Given the description of an element on the screen output the (x, y) to click on. 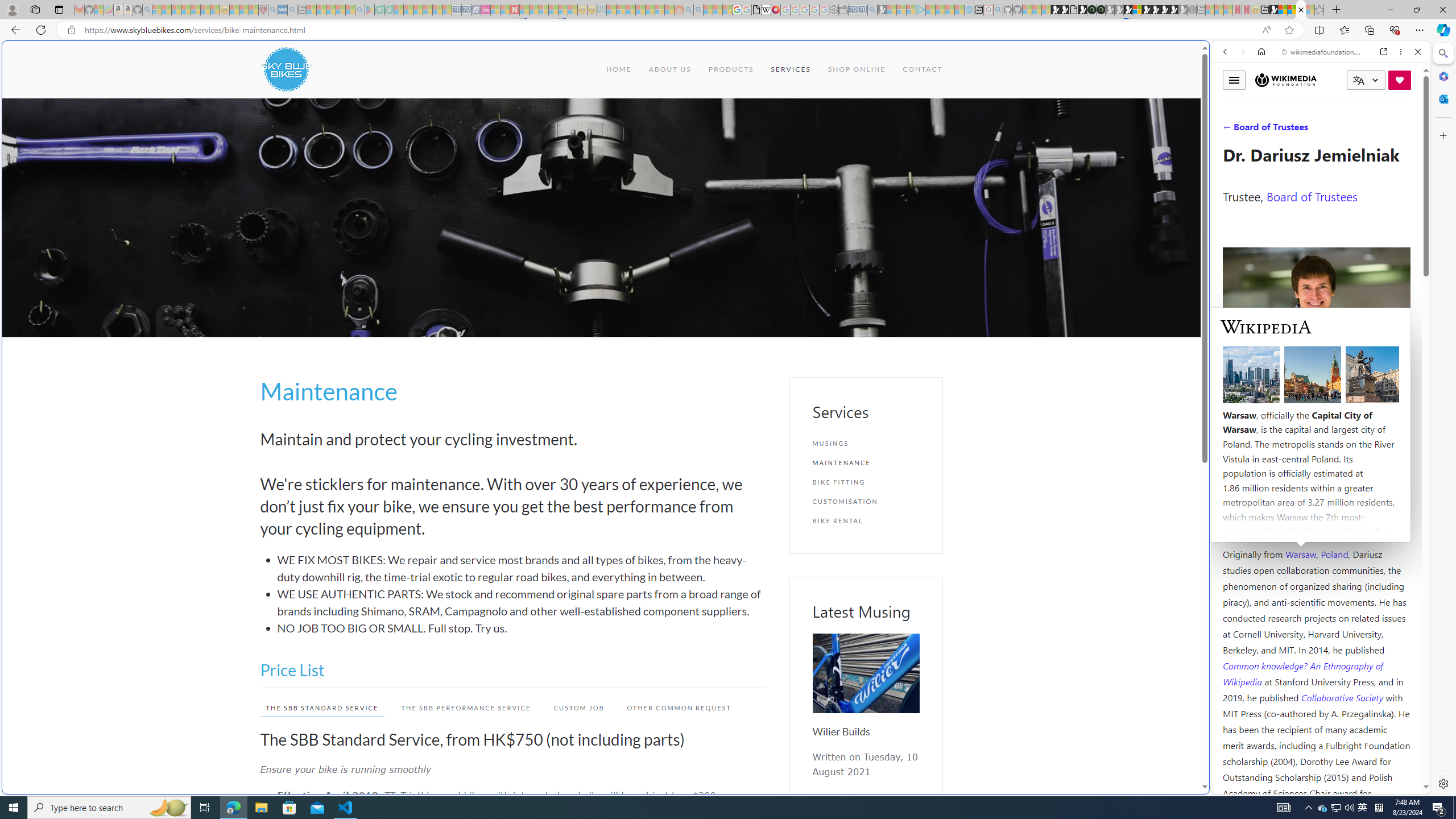
World - MSN (727, 389)
MUSINGS (865, 443)
New Report Confirms 2023 Was Record Hot | Watch - Sleeping (195, 9)
VIDEOS (1300, 130)
MSN (1118, 536)
Search Filter, Search Tools (1350, 129)
google - Search - Sleeping (359, 9)
